Given the description of an element on the screen output the (x, y) to click on. 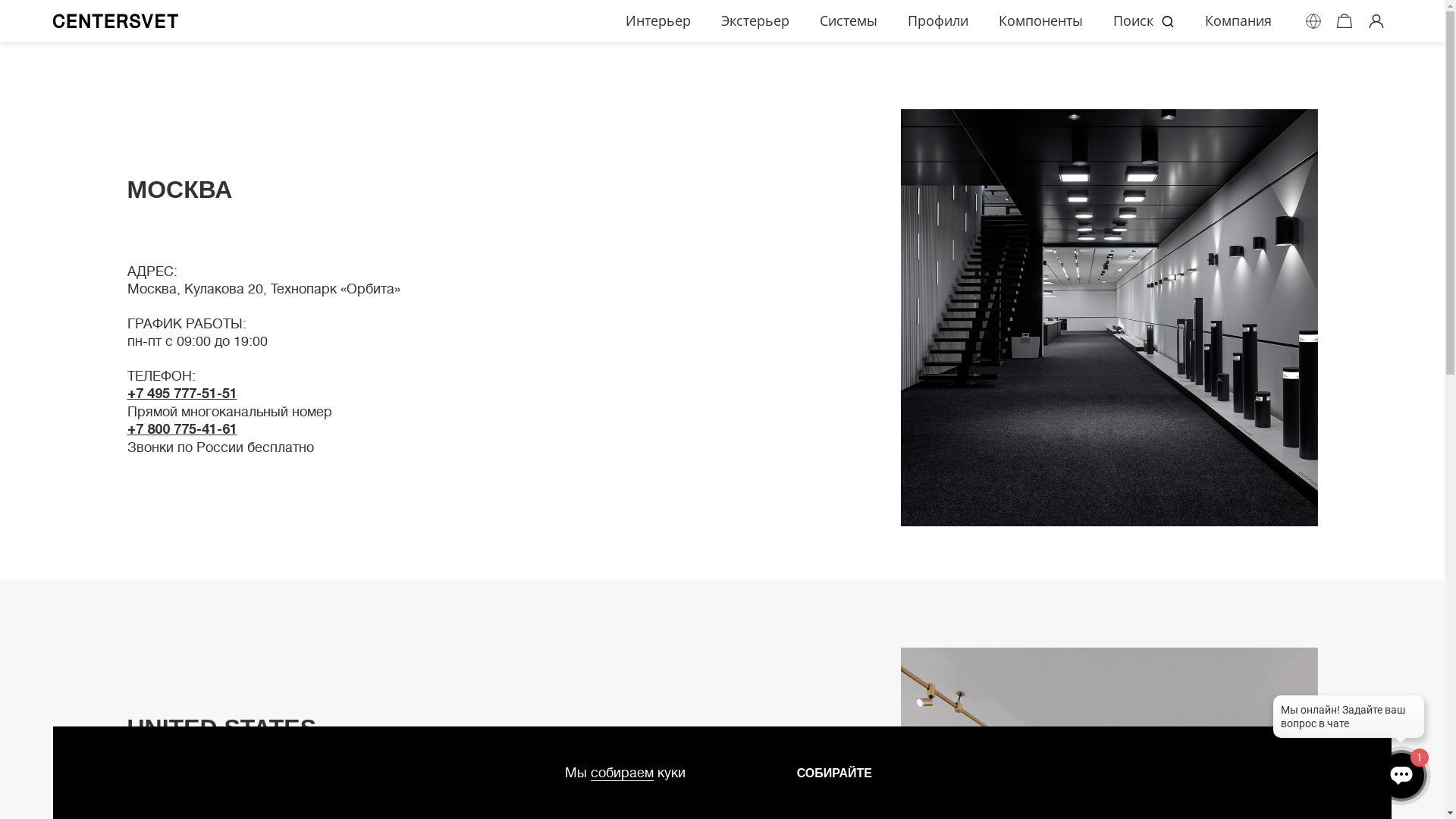
Partner Portal Element type: hover (1376, 20)
+7 495 777-51-51 Element type: text (182, 392)
+7 800 775-41-61 Element type: text (182, 428)
amoCRM Live Chat Element type: hover (1348, 720)
